Given the description of an element on the screen output the (x, y) to click on. 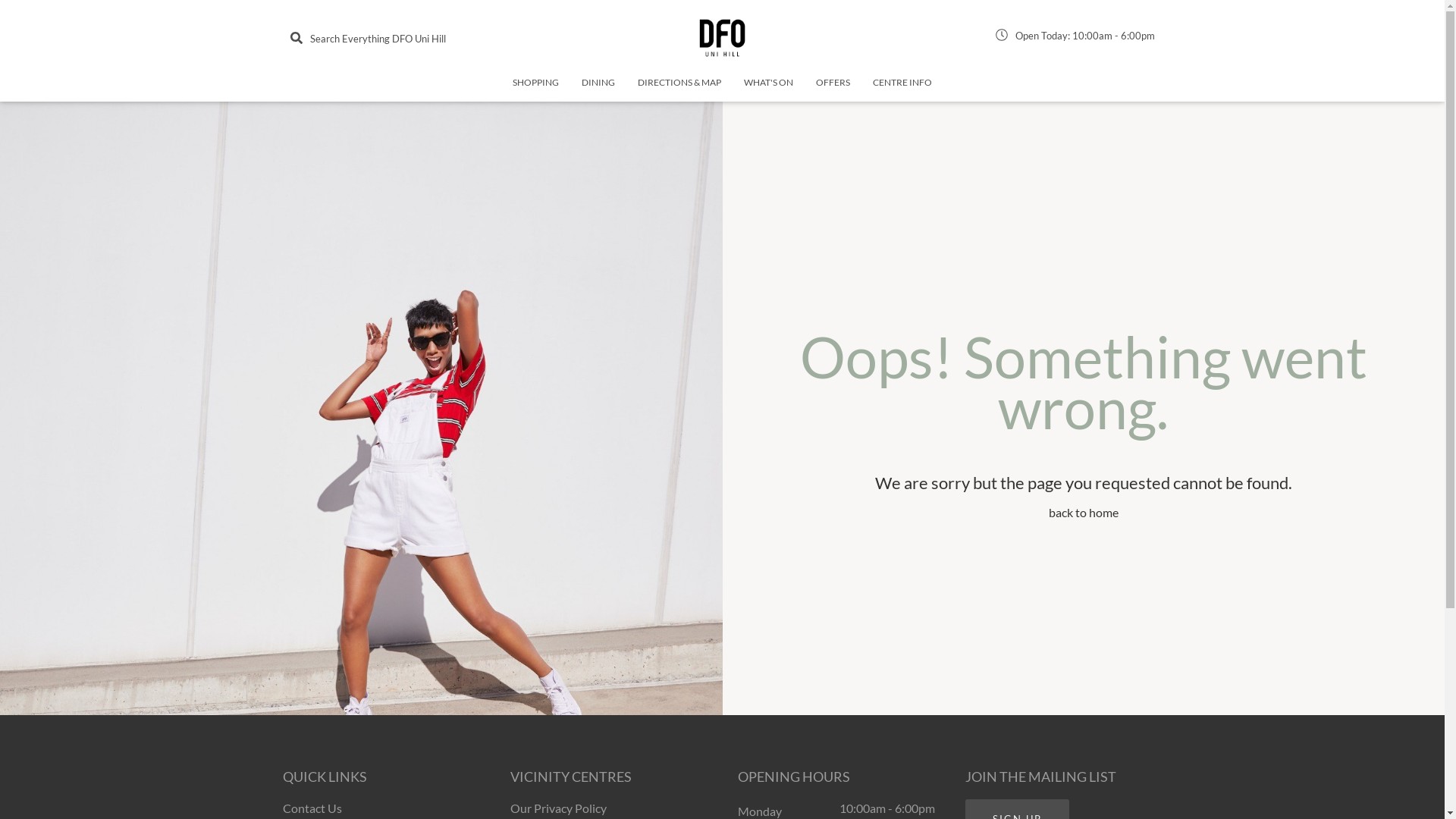
DINING Element type: text (597, 88)
back to home Element type: text (1083, 512)
WHAT'S ON Element type: text (768, 88)
Open Today: 10:00am - 6:00pm Element type: text (1074, 37)
Our Privacy Policy Element type: text (557, 807)
CENTRE INFO Element type: text (902, 88)
SHOPPING Element type: text (535, 88)
OFFERS Element type: text (832, 88)
DIRECTIONS & MAP Element type: text (678, 88)
Contact Us Element type: text (311, 807)
